Given the description of an element on the screen output the (x, y) to click on. 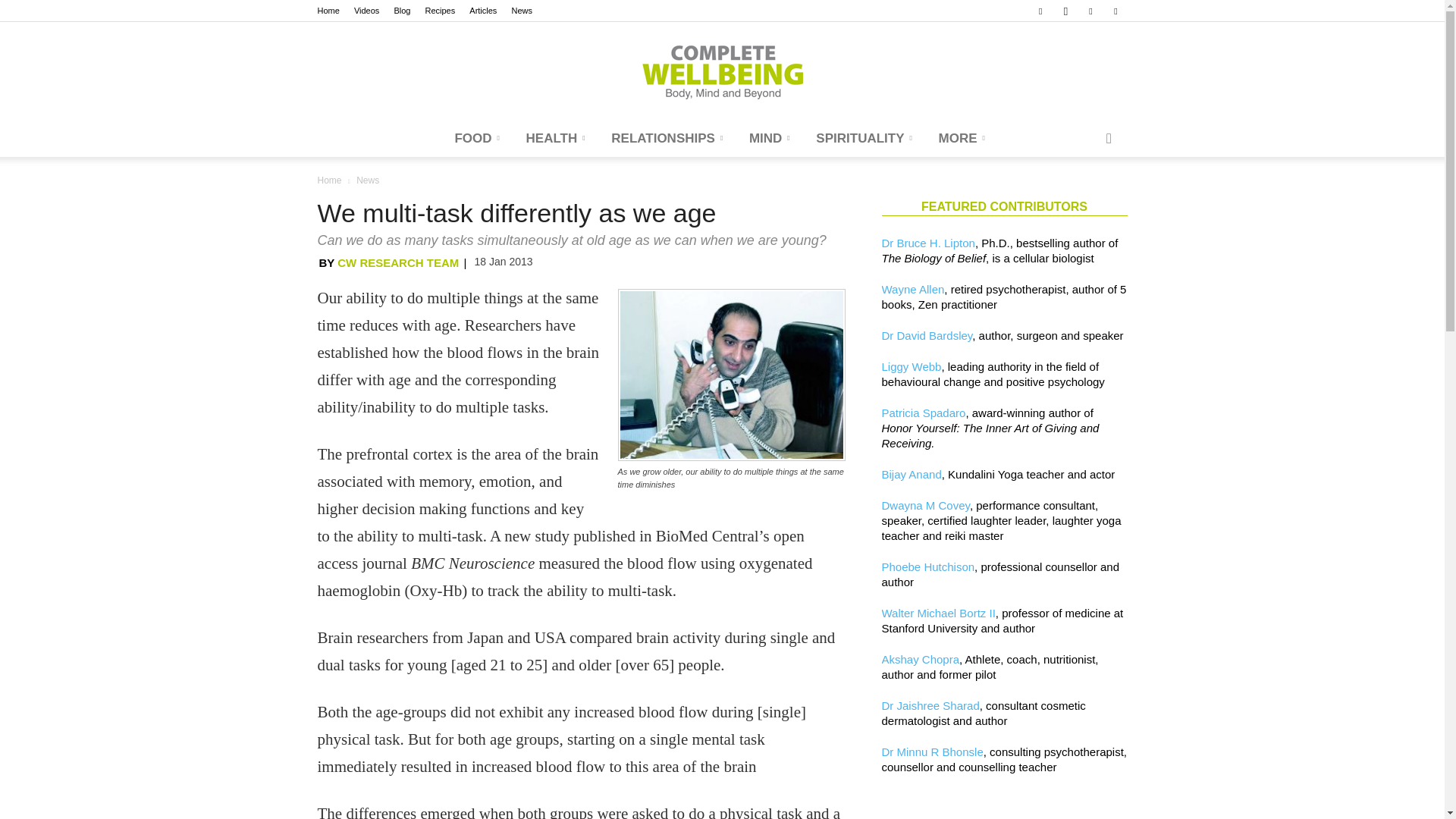
BODY, MIND AND BEYOND (721, 71)
Twitter (1114, 10)
Videos (365, 10)
Instagram (1065, 10)
Blog (401, 10)
Home (328, 10)
Pinterest (1090, 10)
Facebook (1040, 10)
Posts by CW Research Team (397, 262)
Recipes (439, 10)
